Given the description of an element on the screen output the (x, y) to click on. 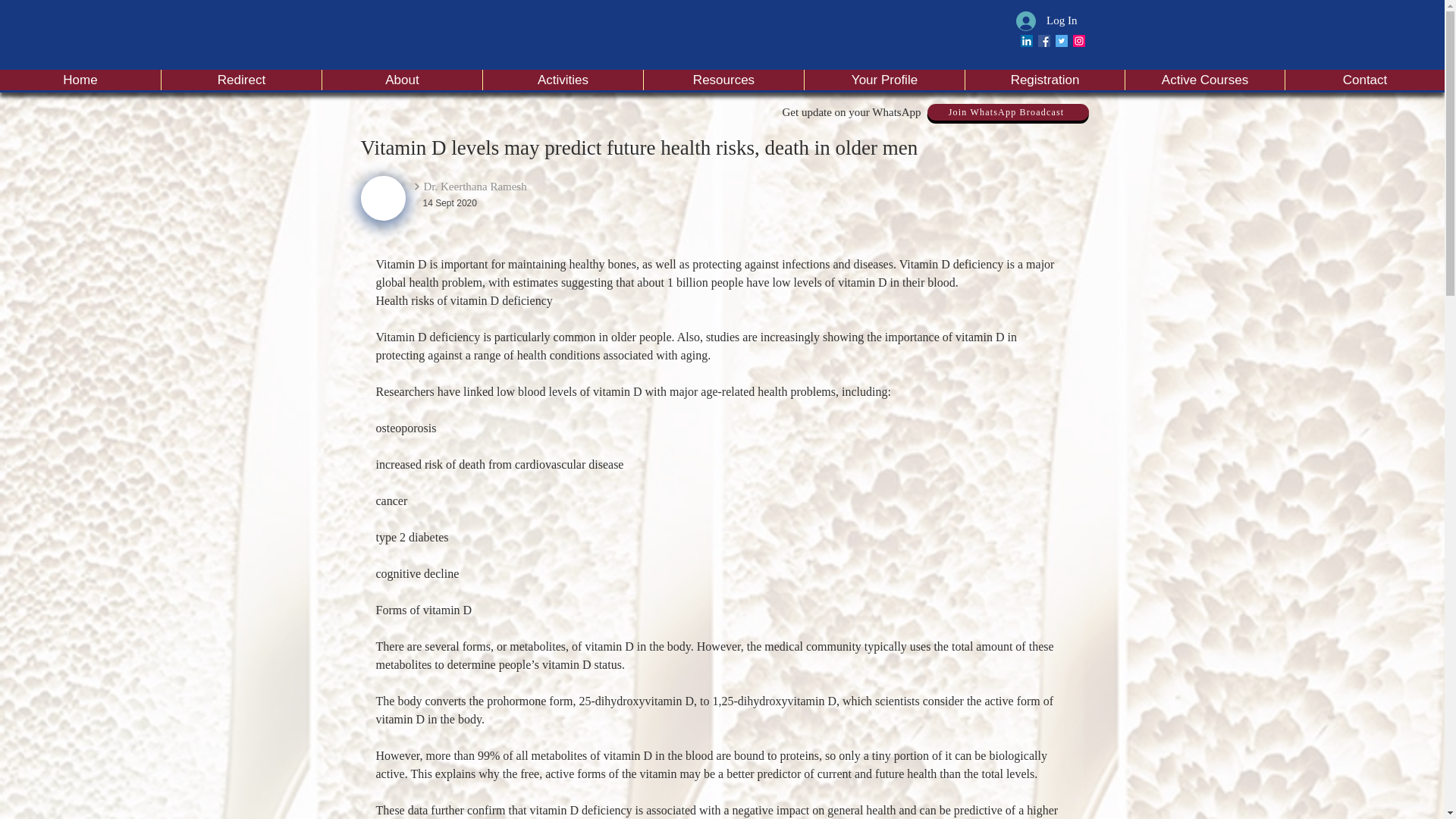
Join WhatsApp Broadcast (1006, 112)
Log In (1046, 20)
Active Courses (1204, 79)
Your Profile (883, 79)
Dr. Keerthana Ramesh (517, 186)
Home (80, 79)
About (401, 79)
Redirect (240, 79)
CHEARS Logo png.jpg.png (383, 198)
Registration (1043, 79)
Resources (723, 79)
Activities (562, 79)
